Given the description of an element on the screen output the (x, y) to click on. 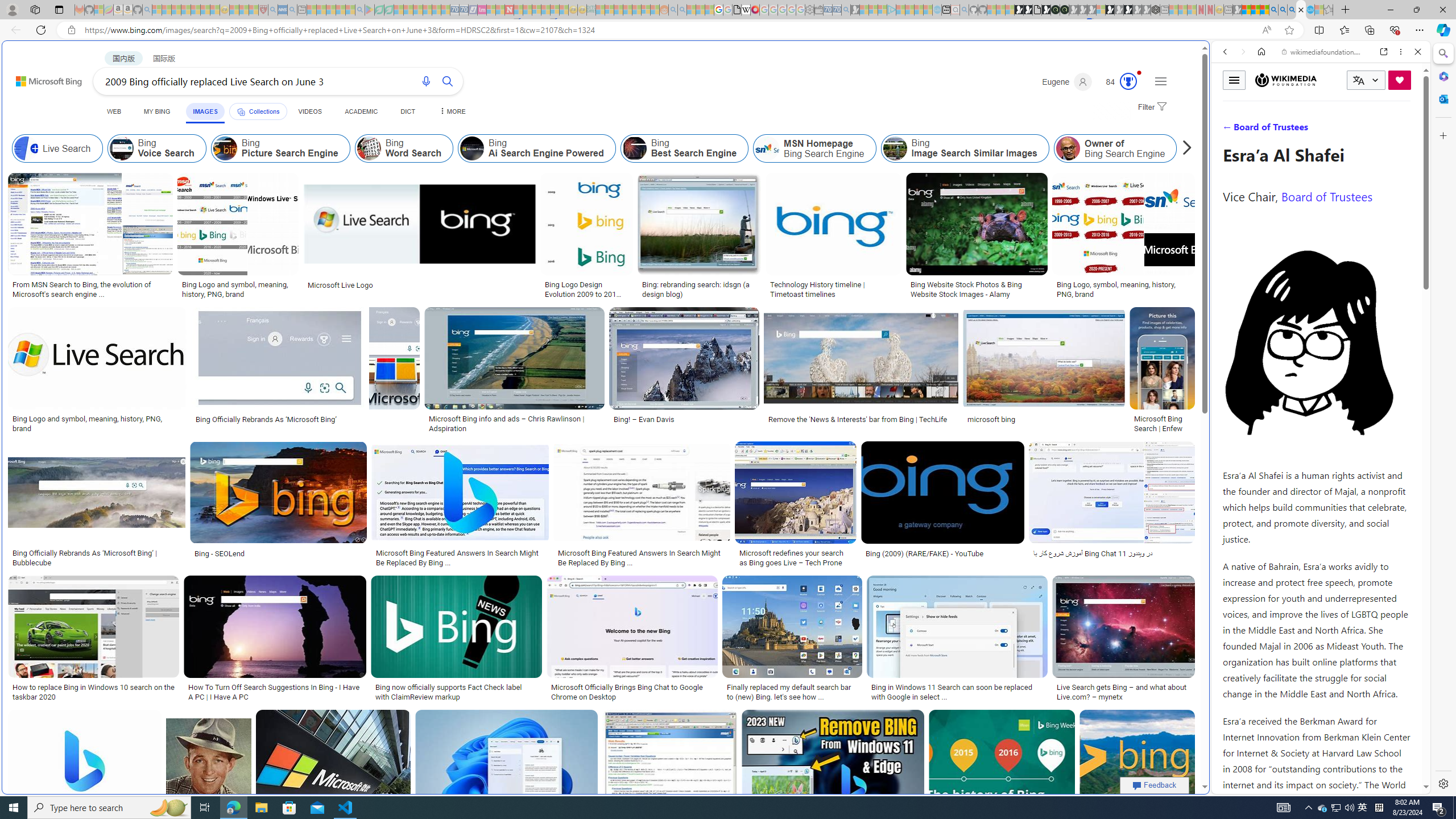
Bing Ai Search Engine Powered (472, 148)
Board of Trustees (1326, 195)
Future Focus Report 2024 (1064, 9)
Bing Logo Design Evolution 2009 to 2016 | Smithographic (586, 288)
MSN Homepage Bing Search Engine (815, 148)
